Given the description of an element on the screen output the (x, y) to click on. 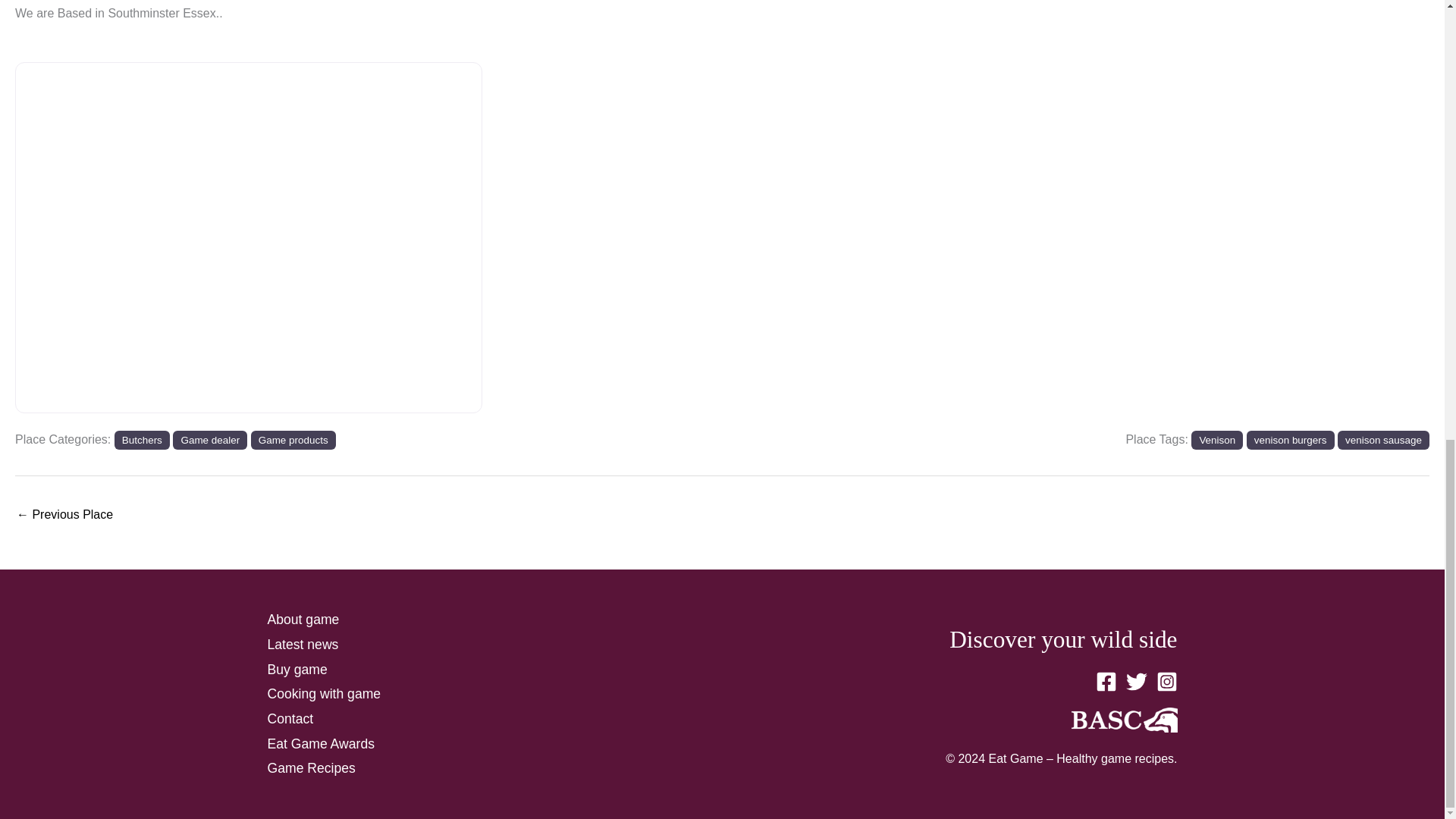
Buntings of Maldon (64, 515)
Butchers (142, 439)
Venison (1217, 439)
Game products (293, 439)
Game dealer (210, 439)
